Given the description of an element on the screen output the (x, y) to click on. 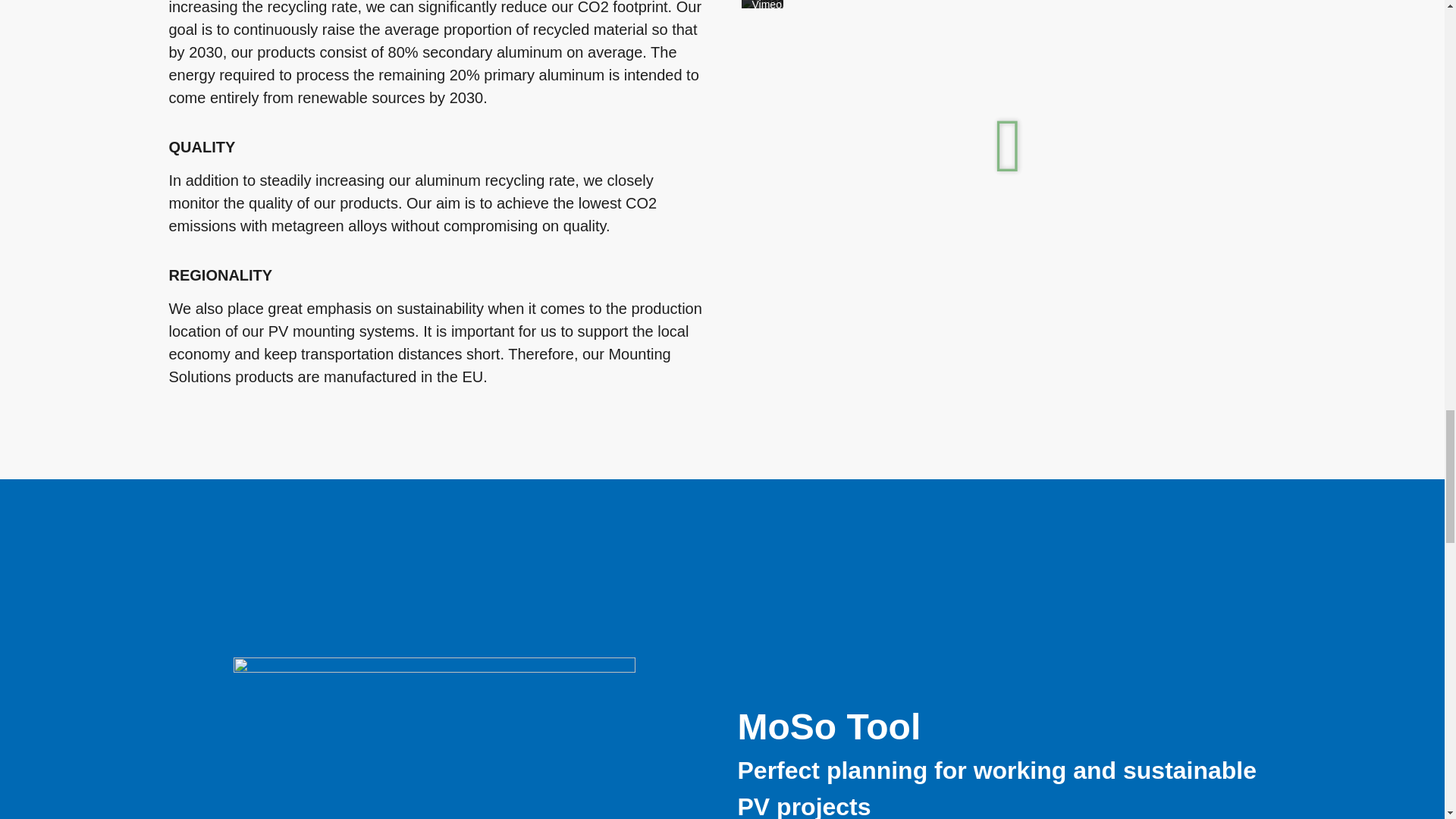
Video laden (782, 62)
1 (759, 97)
Mehr erfahren (772, 21)
